Given the description of an element on the screen output the (x, y) to click on. 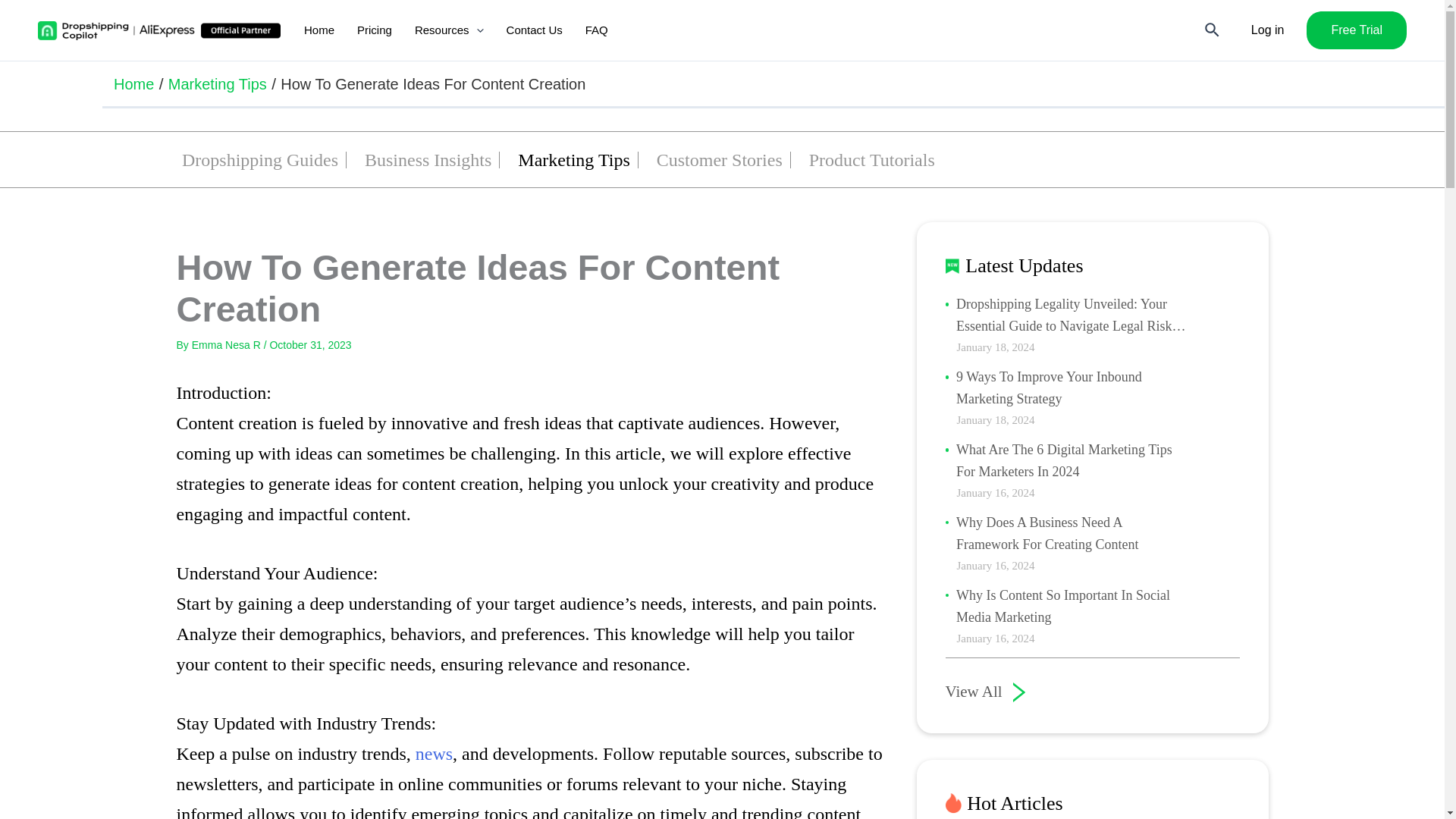
FAQ (596, 30)
Home (319, 30)
Free Trial (1356, 30)
Product Tutorials (871, 160)
Marketing Tips (573, 160)
View all posts by Emma Nesa R (227, 345)
Log in (1267, 29)
Customer Stories (719, 160)
World Cup News Qualification Results Tables (433, 753)
Contact Us (534, 30)
Pricing (374, 30)
Home (133, 83)
Business Insights (428, 160)
Resources (449, 30)
Marketing Tips (217, 83)
